Given the description of an element on the screen output the (x, y) to click on. 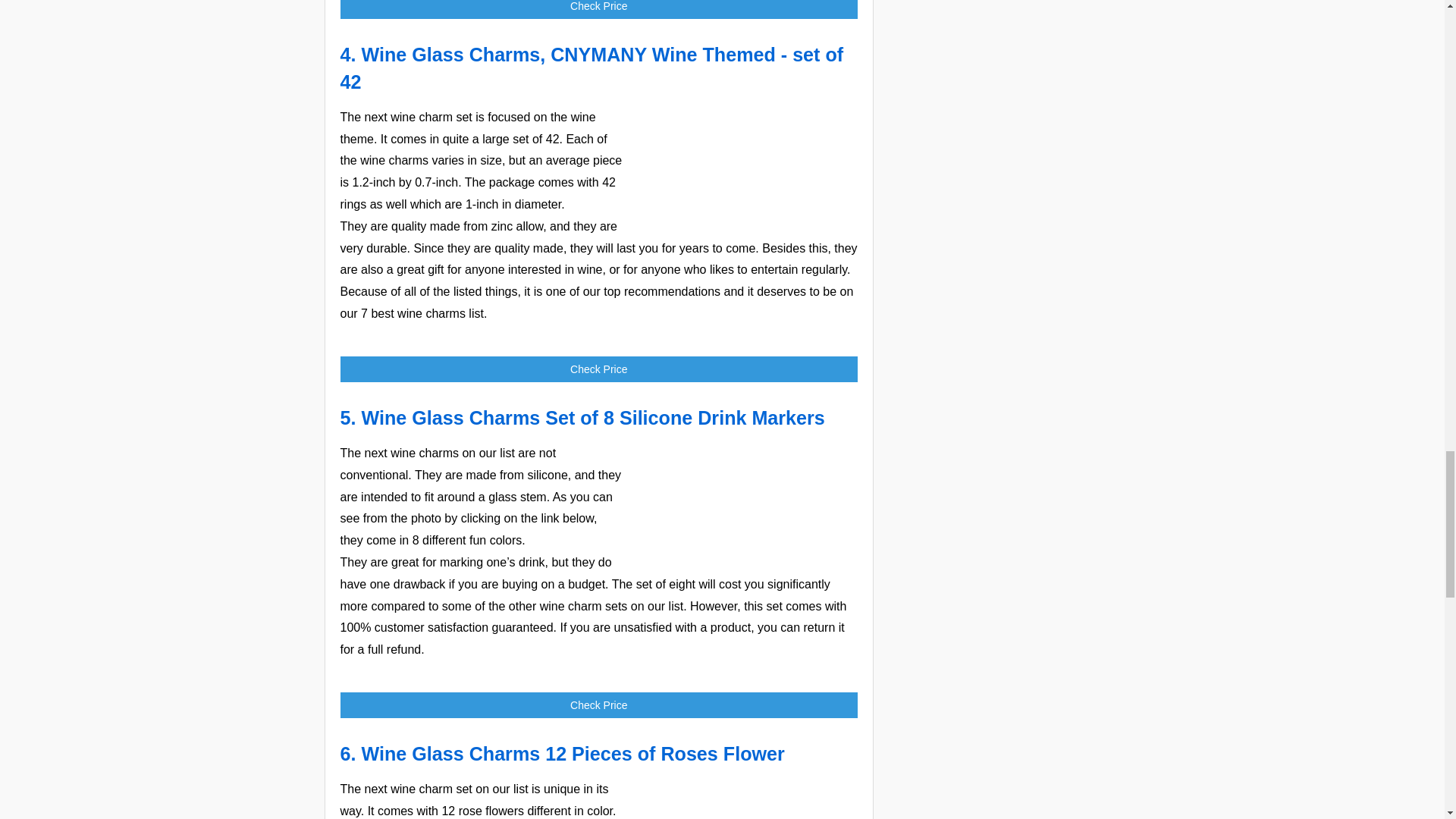
Wine Glass Charms, CNYMANY Wine Themed - set of 42 (743, 163)
Wine Glass Charms Set of 8 Silicone Drink Markers (592, 417)
Wine Glass Charms, CNYMANY Wine Themed - set of 42 (591, 67)
Wine Glass Charms, CNYMANY Wine Themed - set of 42 (591, 67)
Wine Glass Charms Set of 8 Silicone Drink Markers (592, 417)
Check Price (598, 9)
Wine Glass Charms 12 Pieces of Roses Flower (572, 753)
Check Price (598, 705)
Check Price (598, 369)
Check Price (598, 369)
Check Price (598, 9)
